Given the description of an element on the screen output the (x, y) to click on. 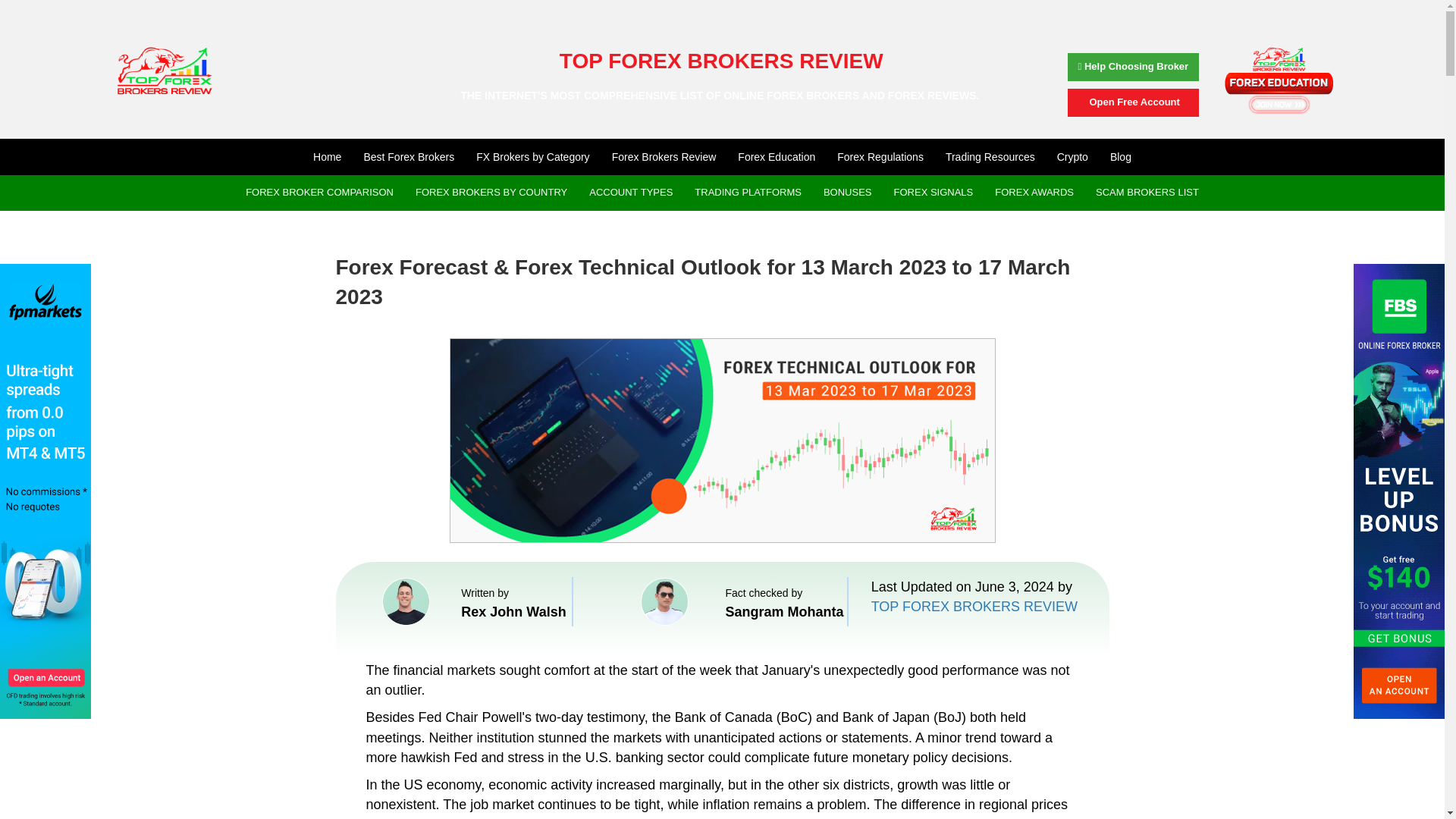
Best Forex Brokers (408, 156)
Home (327, 156)
Open Free Account (1133, 102)
topfxbrokersreview (164, 70)
Forex Brokers Review (663, 156)
Help Choosing Broker (1133, 67)
FX Brokers by Category (532, 156)
Education-button (1278, 79)
